Given the description of an element on the screen output the (x, y) to click on. 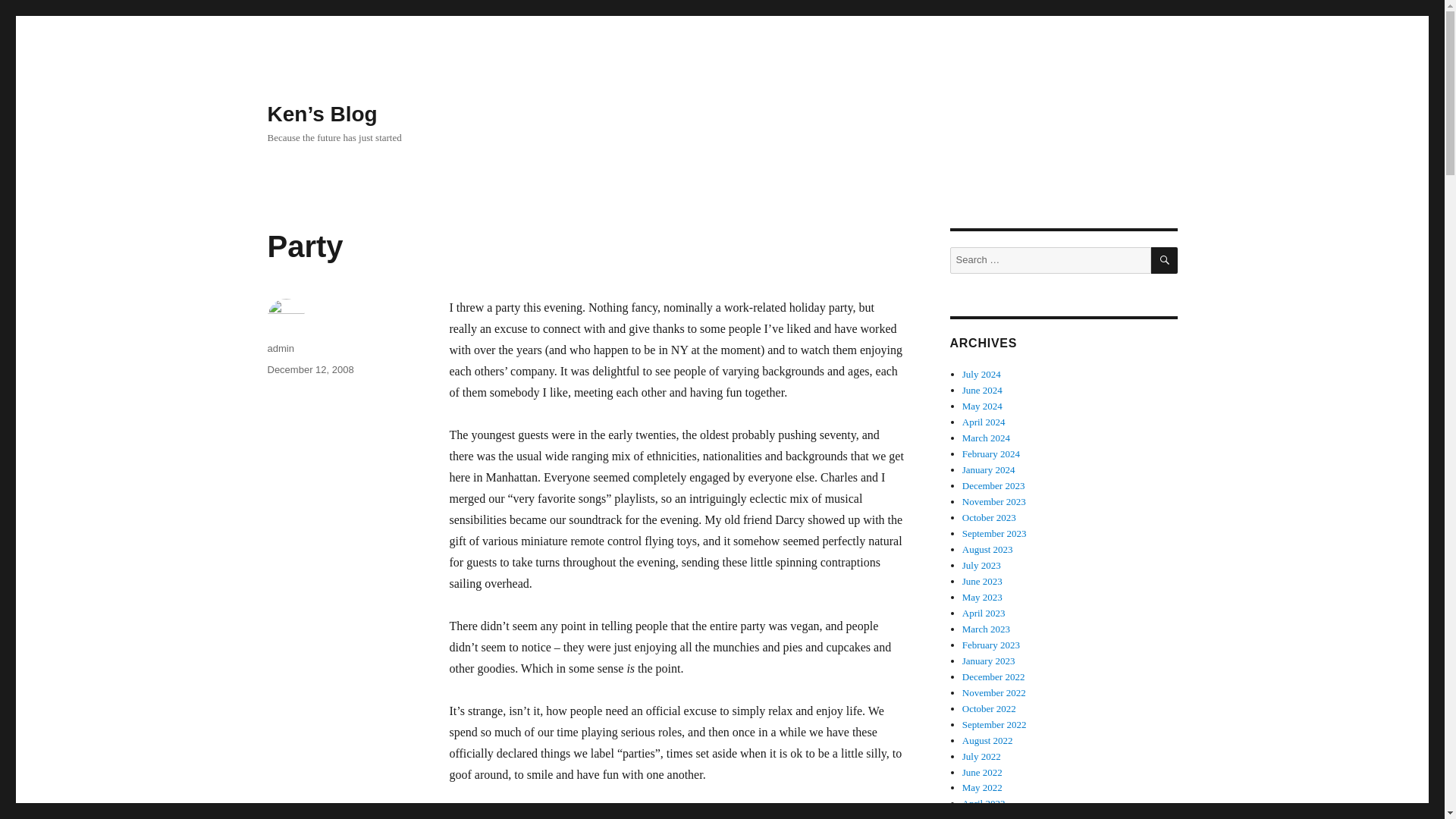
March 2023 (986, 628)
December 2023 (993, 485)
March 2022 (986, 816)
October 2022 (989, 708)
August 2023 (987, 549)
August 2022 (987, 740)
June 2023 (982, 581)
May 2022 (982, 787)
June 2024 (982, 389)
January 2023 (988, 660)
November 2023 (994, 501)
March 2024 (986, 437)
February 2024 (991, 453)
December 12, 2008 (309, 369)
February 2023 (991, 644)
